Given the description of an element on the screen output the (x, y) to click on. 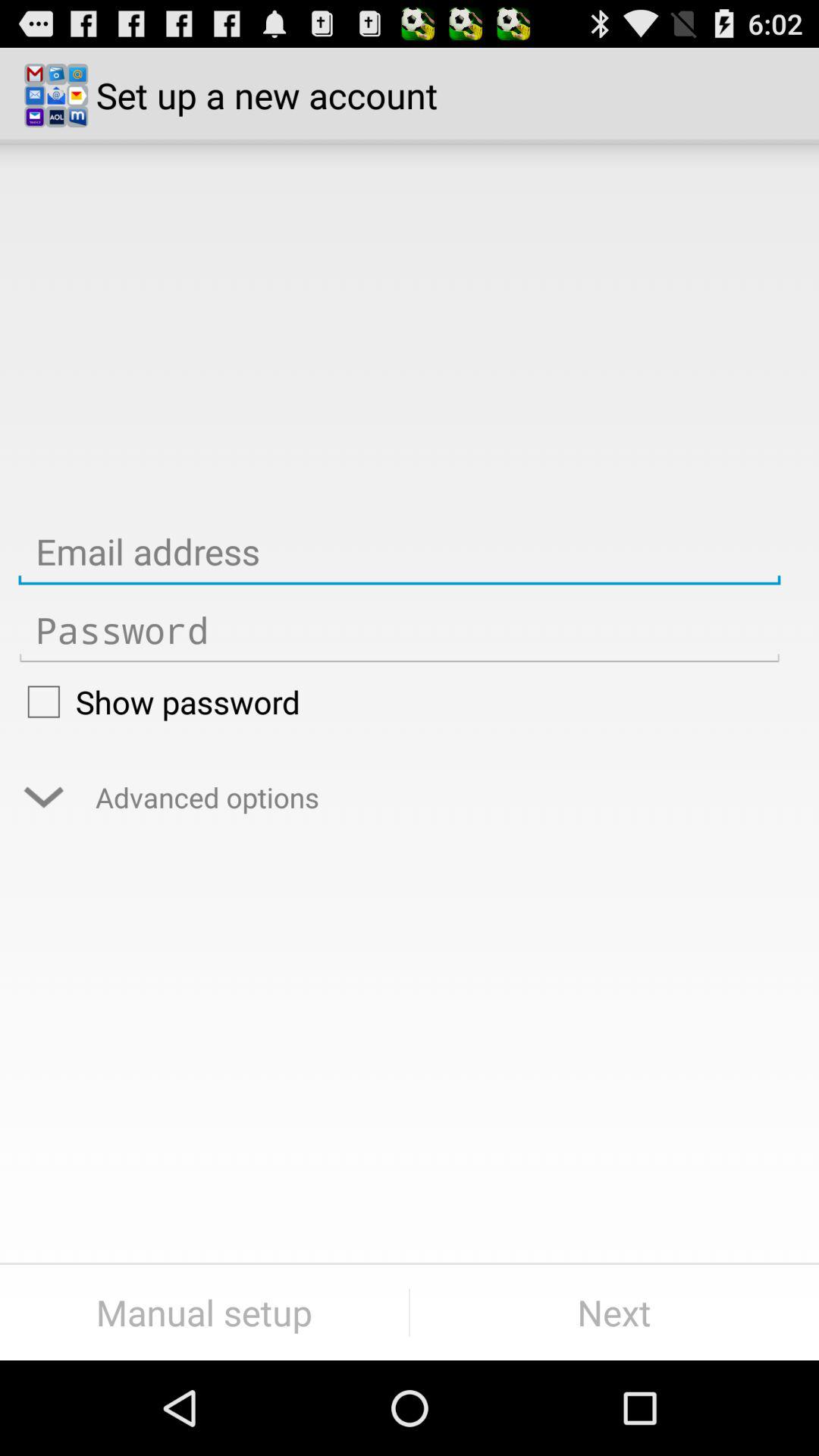
tap the show password icon (399, 701)
